Given the description of an element on the screen output the (x, y) to click on. 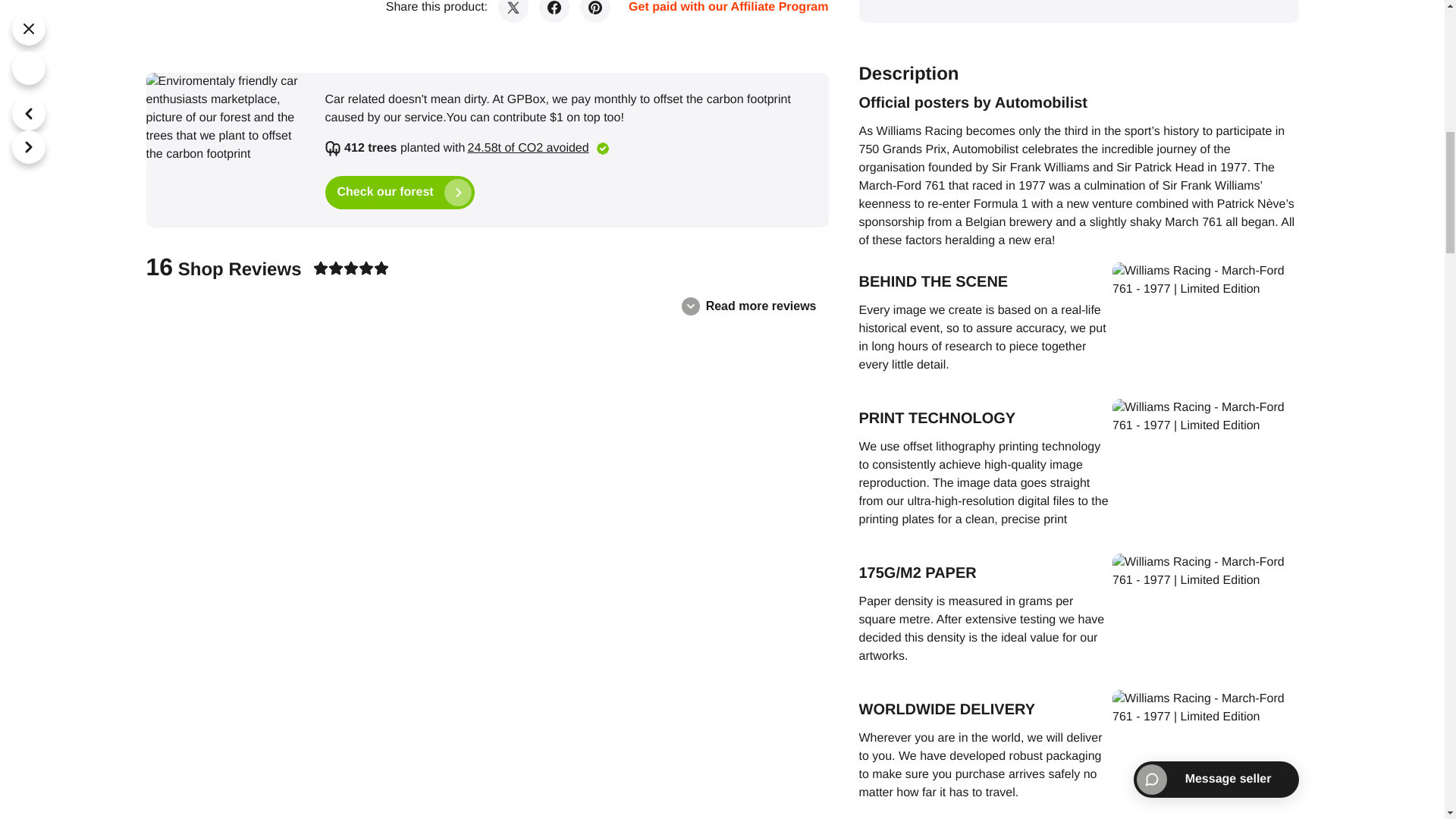
Click to see share on Twitter (512, 11)
Click to see share on Pinterest (594, 11)
Click to see share on Facebook (553, 11)
